Given the description of an element on the screen output the (x, y) to click on. 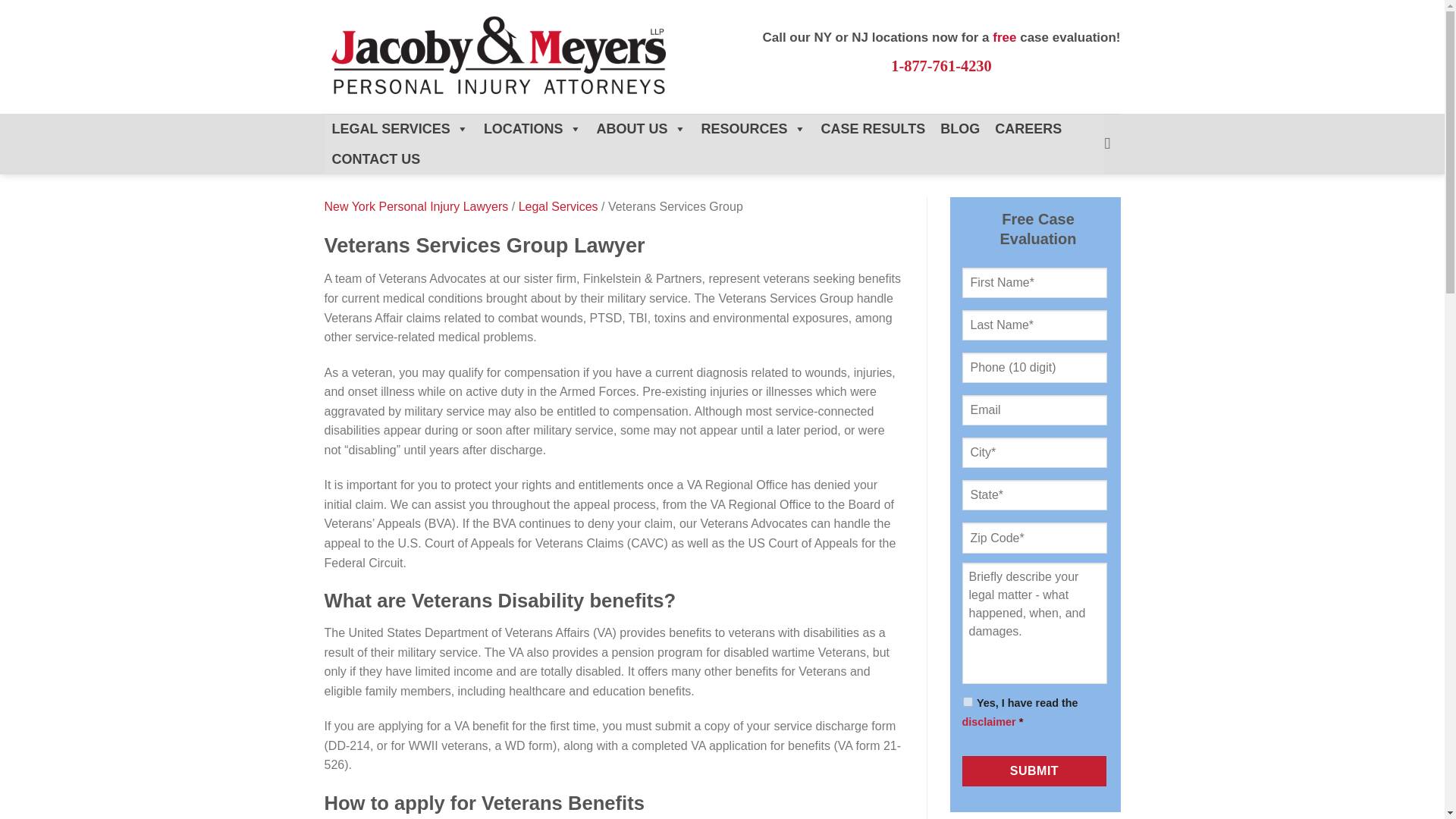
1 (967, 701)
1-877-761-4230 (941, 65)
Submit (1033, 770)
